Given the description of an element on the screen output the (x, y) to click on. 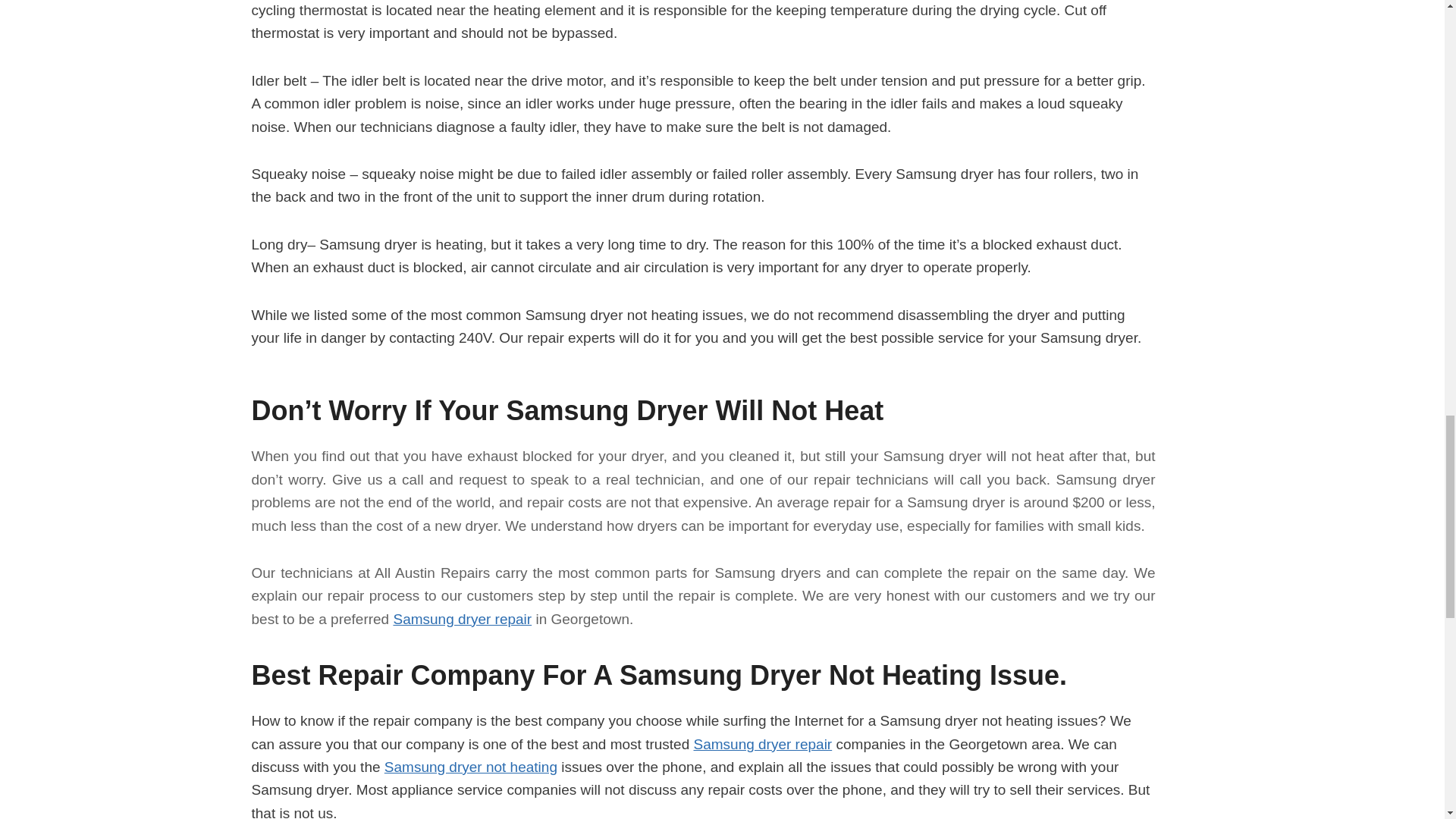
Samsung dryer repair (462, 618)
Samsung dryer not heating (470, 766)
Samsung dryer repair (762, 743)
